Given the description of an element on the screen output the (x, y) to click on. 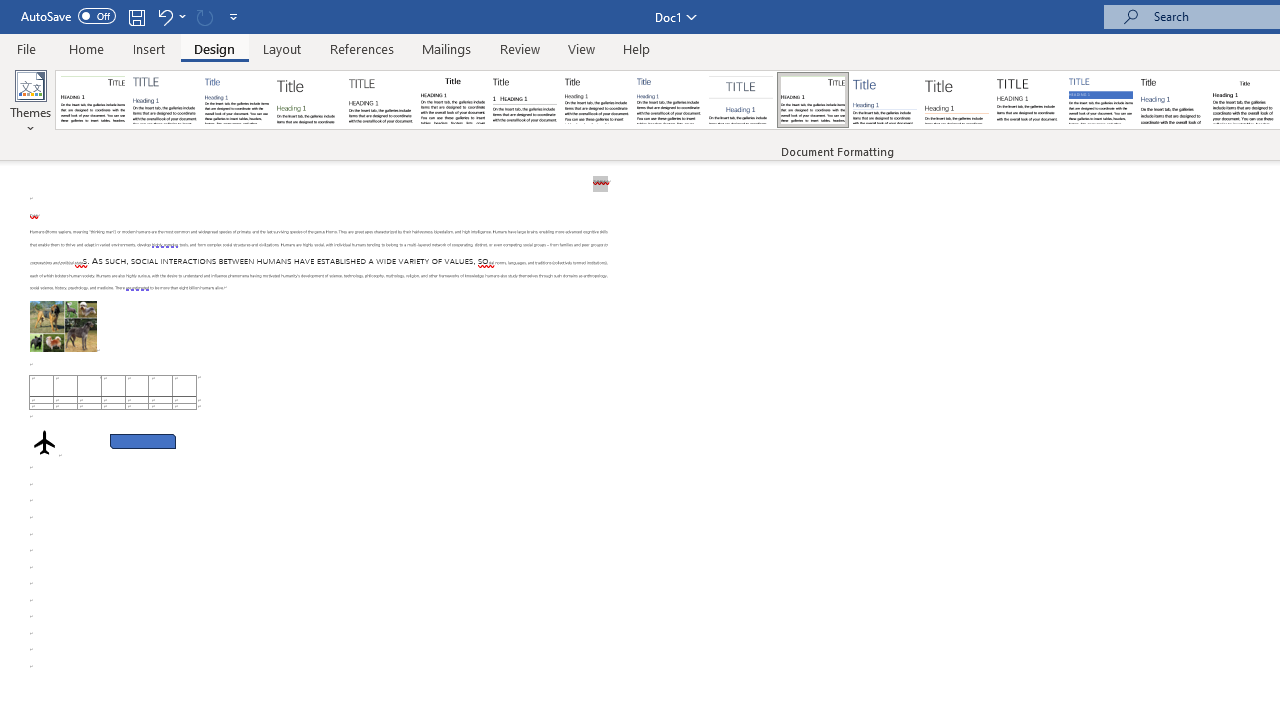
Airplane with solid fill (43, 442)
Undo Apply Quick Style Set (170, 15)
Black & White (Word 2013) (596, 100)
Lines (Simple) (884, 100)
Themes (30, 102)
Document (93, 100)
Black & White (Classic) (452, 100)
